Given the description of an element on the screen output the (x, y) to click on. 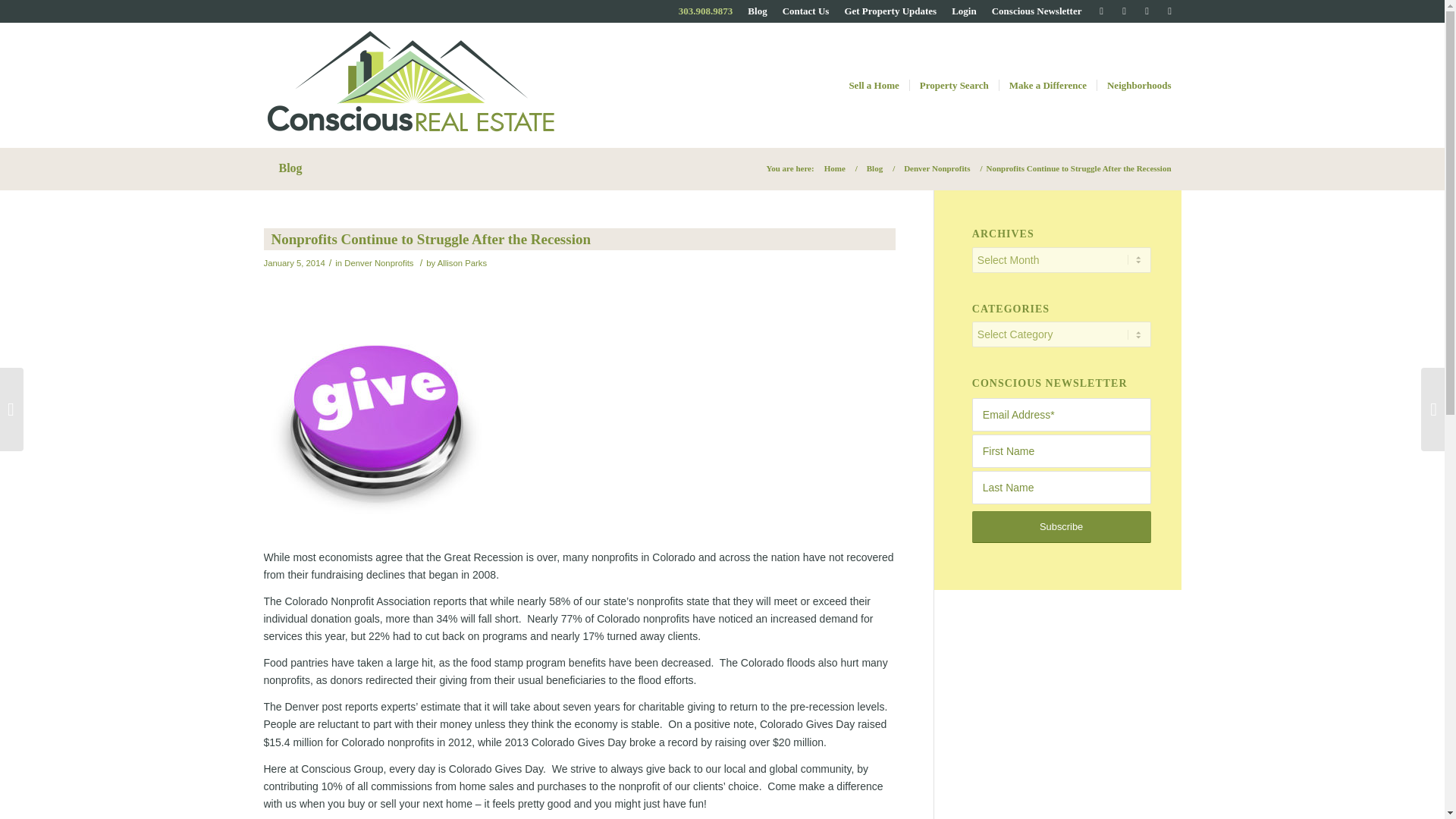
303.908.9873 (705, 10)
Conscious Real Estate (834, 168)
Facebook (1146, 11)
Conscious Newsletter (1036, 11)
Login (964, 11)
Linkedin (1169, 11)
Contact Us (806, 11)
Blog (874, 168)
Get Property Updates (890, 11)
